Given the description of an element on the screen output the (x, y) to click on. 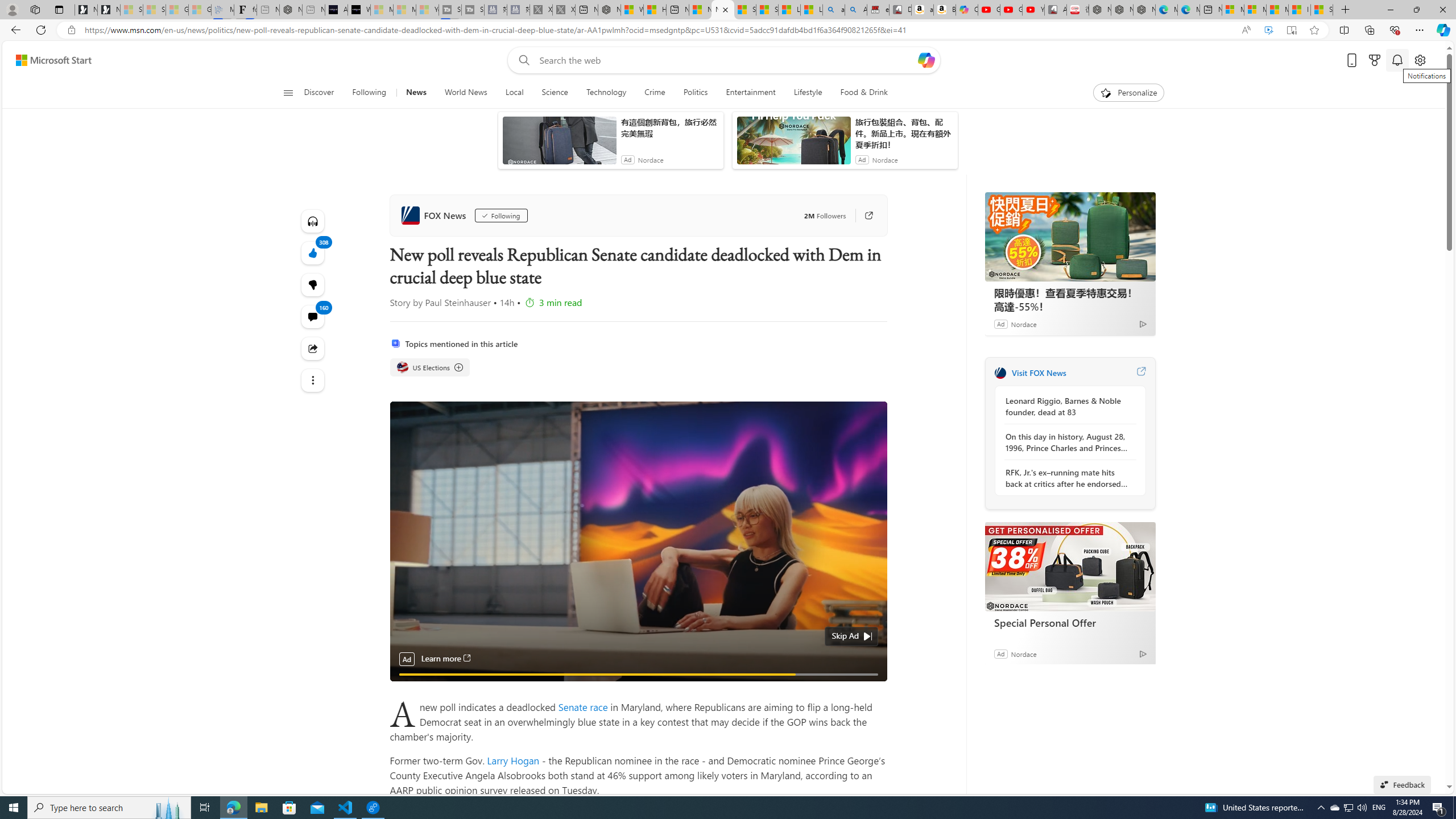
Politics (694, 92)
Microsoft account | Privacy (1255, 9)
Lifestyle (807, 92)
Open navigation menu (287, 92)
US Elections US Elections US Elections (430, 367)
Huge shark washes ashore at New York City beach | Watch (655, 9)
